Given the description of an element on the screen output the (x, y) to click on. 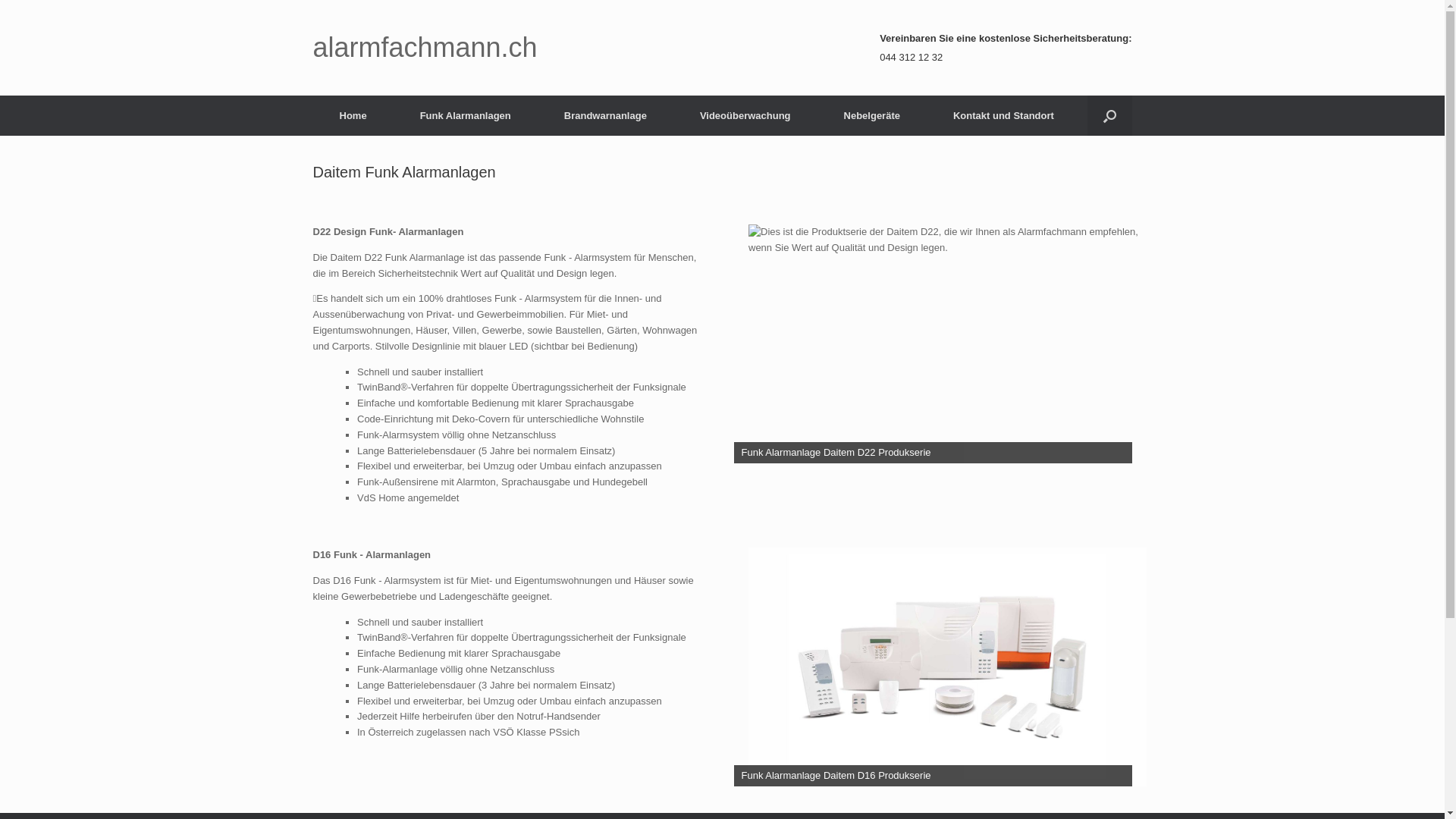
Alarmfachmann Funk Alarmanlage Daitem D22 Produkserie Element type: hover (947, 343)
Kontakt und Standort Element type: text (1003, 115)
Alarmfachmann Funk Alarmanlage Daitem D16 Produkserie Element type: hover (947, 666)
Home Element type: text (352, 115)
Brandwarnanlage Element type: text (605, 115)
alarmfachmann.ch Element type: text (424, 47)
Funk Alarmanlagen Element type: text (465, 115)
